Given the description of an element on the screen output the (x, y) to click on. 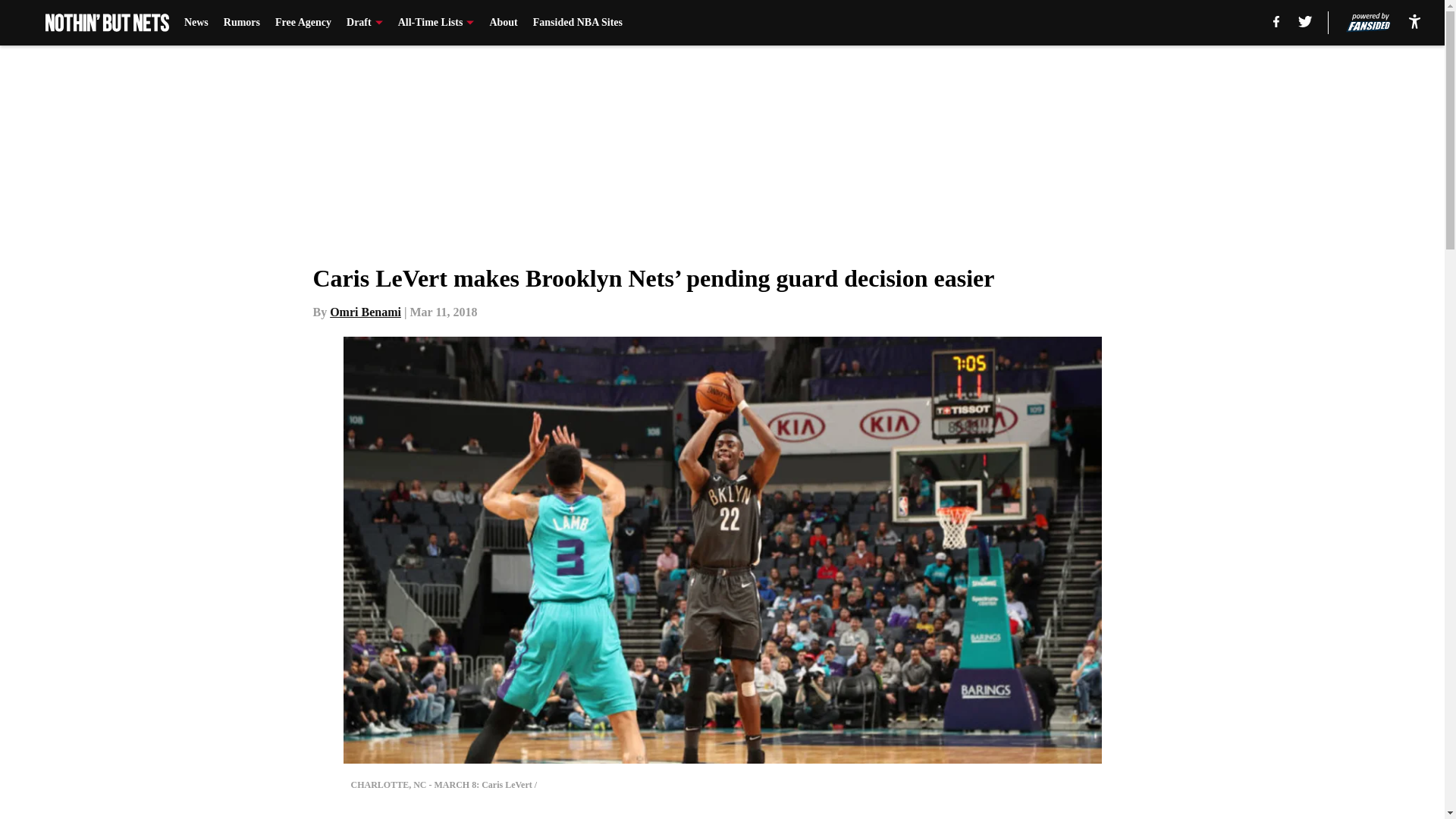
About (502, 22)
Fansided NBA Sites (577, 22)
Free Agency (303, 22)
News (196, 22)
Rumors (242, 22)
Omri Benami (365, 311)
